Given the description of an element on the screen output the (x, y) to click on. 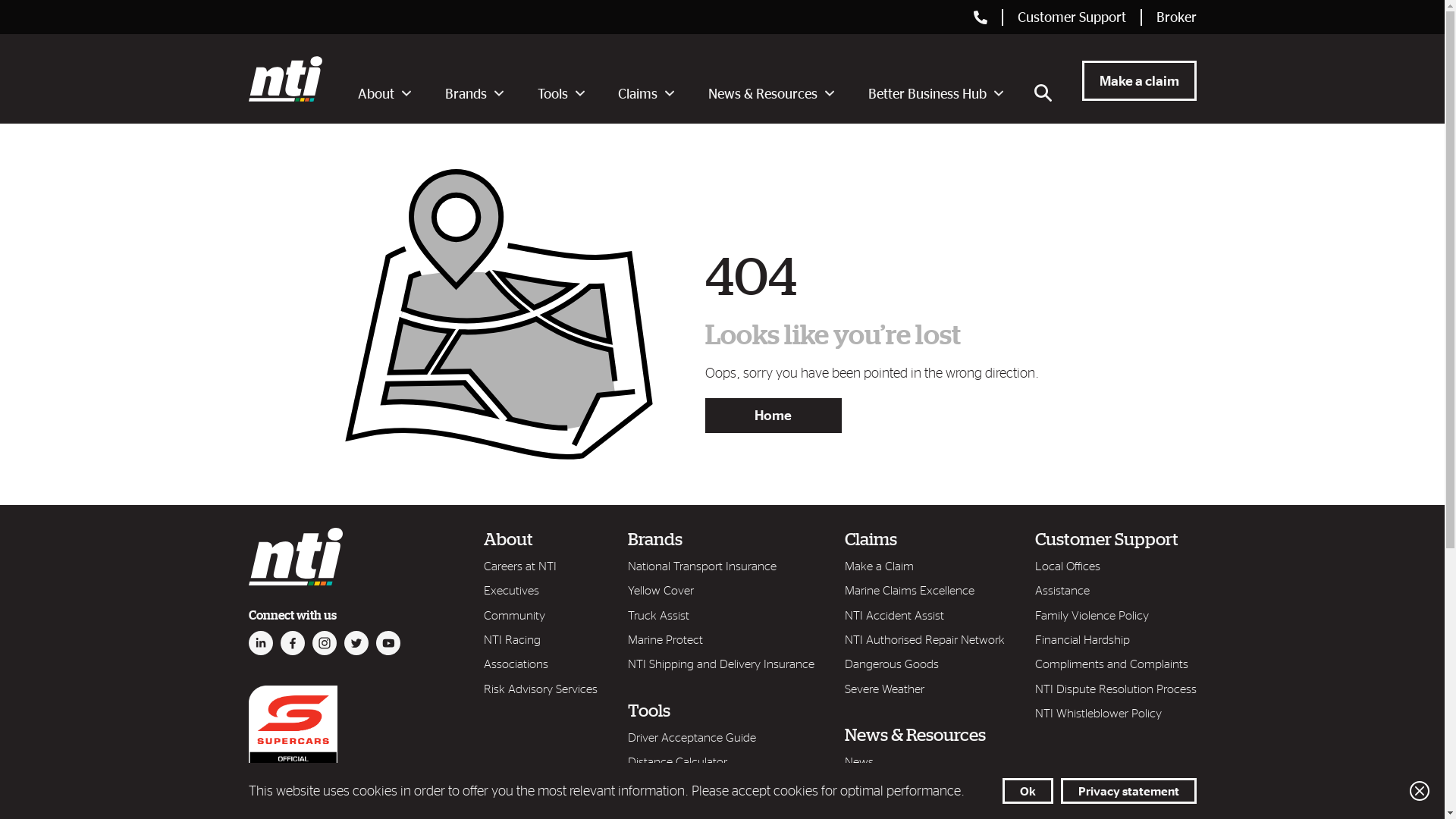
Driver Acceptance Guide Element type: text (691, 736)
Marine Protect Element type: text (664, 639)
Financial Hardship Element type: text (1081, 639)
Executives Element type: text (511, 589)
National Transport Insurance Element type: text (701, 565)
Make a Claim Element type: text (878, 565)
Broker Element type: text (1175, 17)
Community Element type: text (514, 614)
NTI Whistleblower Policy Element type: text (1097, 712)
NTI Racing Element type: text (511, 639)
Claims Element type: text (870, 538)
Visit us on LinkedIn Element type: text (260, 642)
Like us on Twitter Element type: text (356, 642)
Privacy statement Element type: text (1127, 790)
Show search Element type: text (1042, 91)
News & Resources Element type: text (770, 96)
Dangerous Goods Element type: text (891, 663)
NTI Shipping and Delivery Insurance Element type: text (720, 663)
Marine Claims Excellence Element type: text (909, 589)
NTI Accident Assist Element type: text (894, 614)
Better Business Hub Element type: text (935, 96)
Like us on Facebook Element type: text (292, 642)
About Element type: text (508, 538)
Homepage Element type: text (295, 556)
Tools Element type: text (648, 709)
Home Element type: text (773, 415)
Family Violence Policy Element type: text (1091, 614)
News Element type: text (858, 761)
About Element type: text (384, 96)
Claims Element type: text (645, 96)
NTI homepage Element type: text (285, 78)
Local Offices Element type: text (1066, 565)
Like us on Instagram Element type: text (324, 642)
Tools Element type: text (561, 96)
Blog Element type: text (855, 785)
Assistance Element type: text (1061, 589)
Ok Element type: text (1027, 790)
Make a claim Element type: text (1138, 78)
NTI Dispute Resolution Process Element type: text (1114, 688)
Close Element type: text (1419, 790)
Follow us on Youtube Element type: text (388, 642)
Severe Weather Element type: text (884, 688)
Truck Assist Element type: text (658, 614)
Yellow Cover Element type: text (660, 589)
Customer Support Element type: text (1071, 17)
Call us Element type: text (987, 17)
News & Resources Element type: text (914, 733)
Brands Element type: text (654, 538)
Compliments and Complaints Element type: text (1110, 663)
Risk Advisory Services Element type: text (540, 688)
Careers at NTI Element type: text (519, 565)
Customer Support Element type: text (1105, 538)
Distance Calculator Element type: text (677, 761)
NTI Authorised Repair Network Element type: text (924, 639)
Associations Element type: text (515, 663)
Glossary of Marine Terms Element type: text (691, 785)
